Given the description of an element on the screen output the (x, y) to click on. 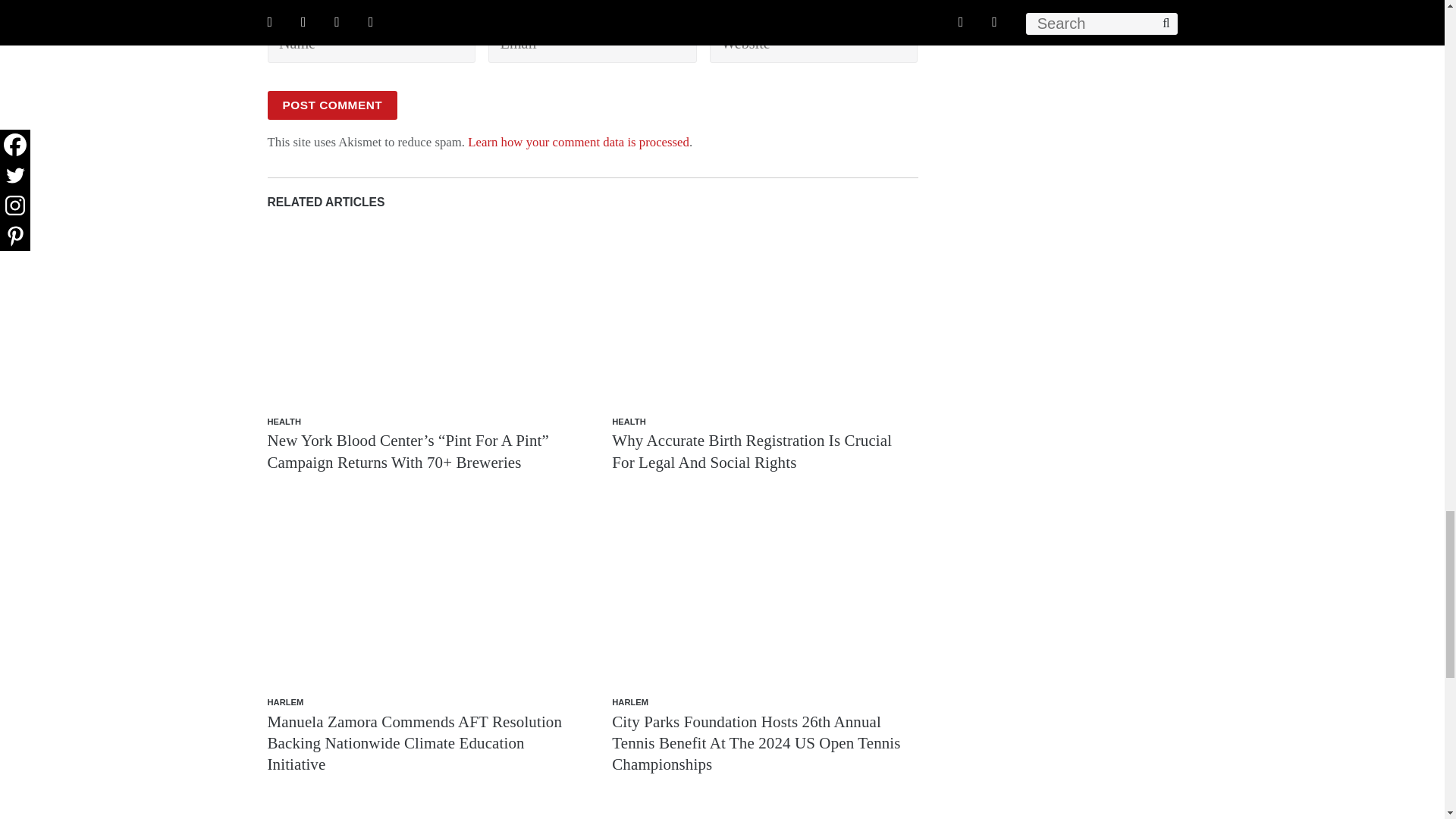
Post Comment (331, 104)
